Given the description of an element on the screen output the (x, y) to click on. 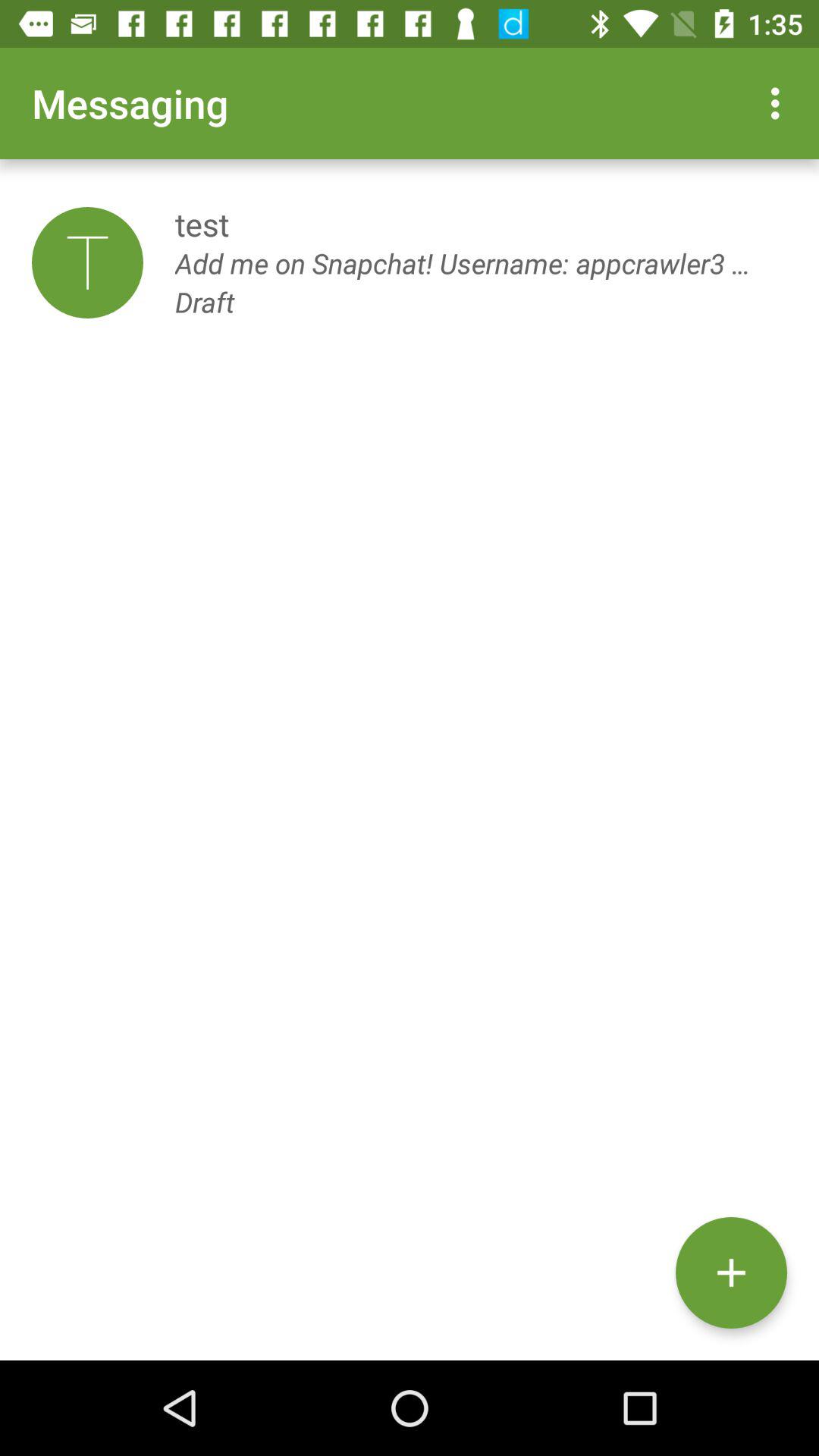
click icon at the top right corner (779, 103)
